Given the description of an element on the screen output the (x, y) to click on. 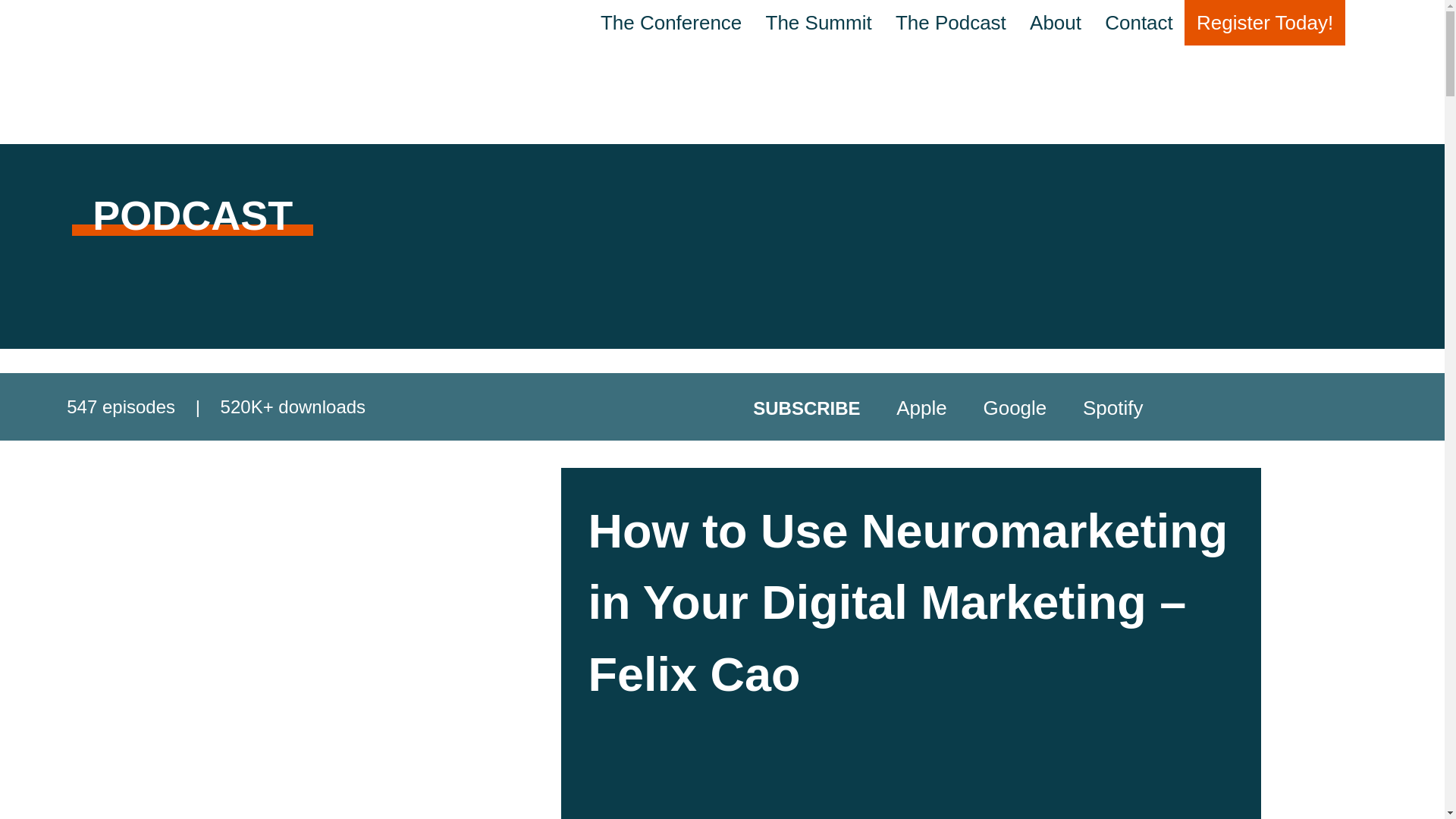
Contact (1139, 22)
The Podcast (950, 22)
Apple (905, 407)
The Summit (818, 22)
Spotify (1096, 407)
About (1055, 22)
Register Today! (1264, 22)
Google (999, 407)
The Conference (671, 22)
